Given the description of an element on the screen output the (x, y) to click on. 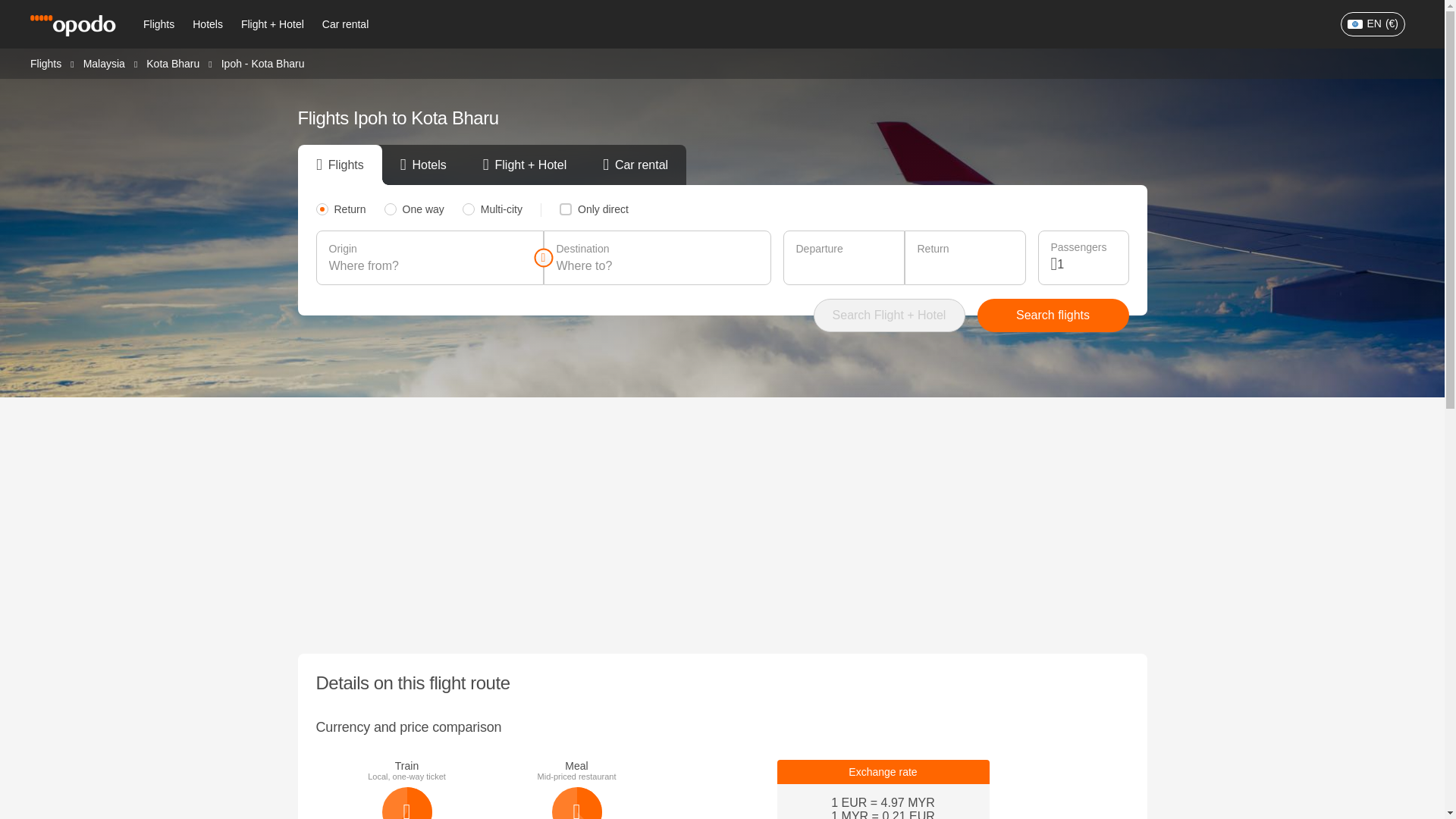
Search flights (1052, 315)
1 (1086, 263)
Hotels (207, 24)
Flights (158, 24)
Ipoh - Kota Bharu (262, 63)
Kota Bharu (173, 62)
Malaysia (103, 62)
Flights (45, 62)
Car rental (345, 24)
